Given the description of an element on the screen output the (x, y) to click on. 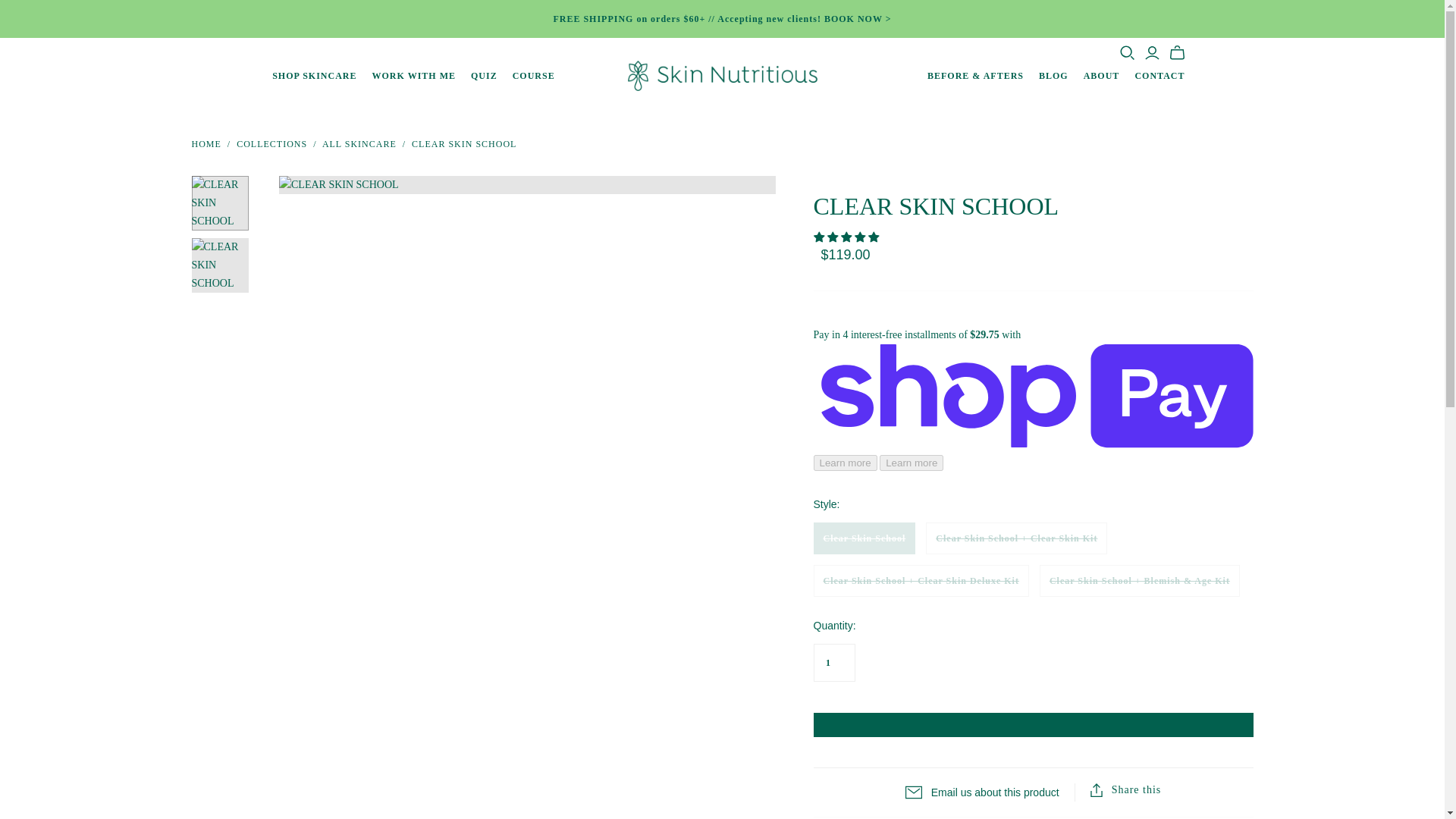
COLLECTIONS (271, 143)
BLOG (1052, 75)
CONTACT (1159, 75)
COURSE (533, 75)
HOME (205, 143)
ALL SKINCARE (358, 143)
1 (833, 662)
ABOUT (1100, 75)
WORK WITH ME (414, 75)
QUIZ (484, 75)
